Given the description of an element on the screen output the (x, y) to click on. 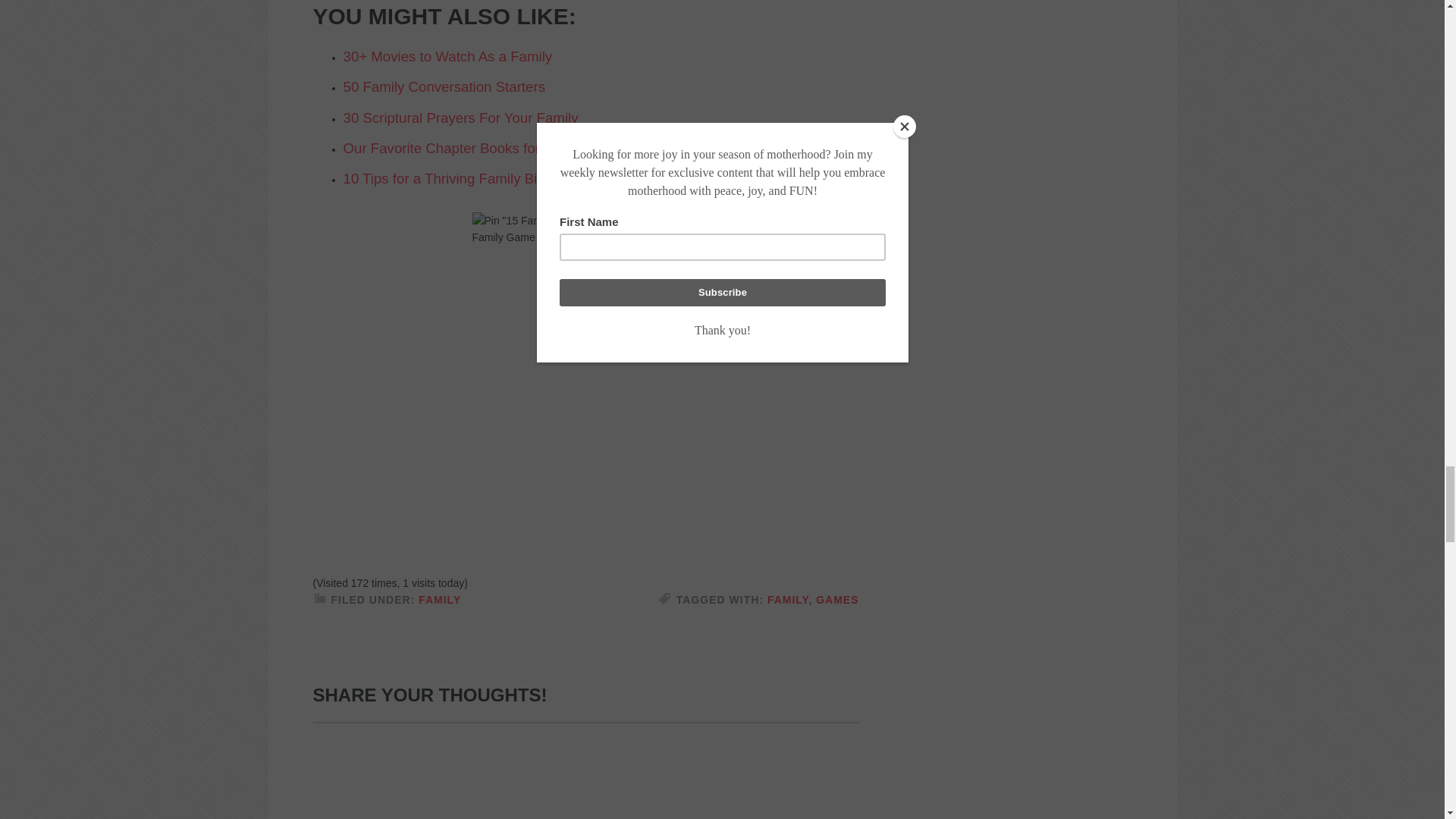
Comment Form (586, 770)
